Given the description of an element on the screen output the (x, y) to click on. 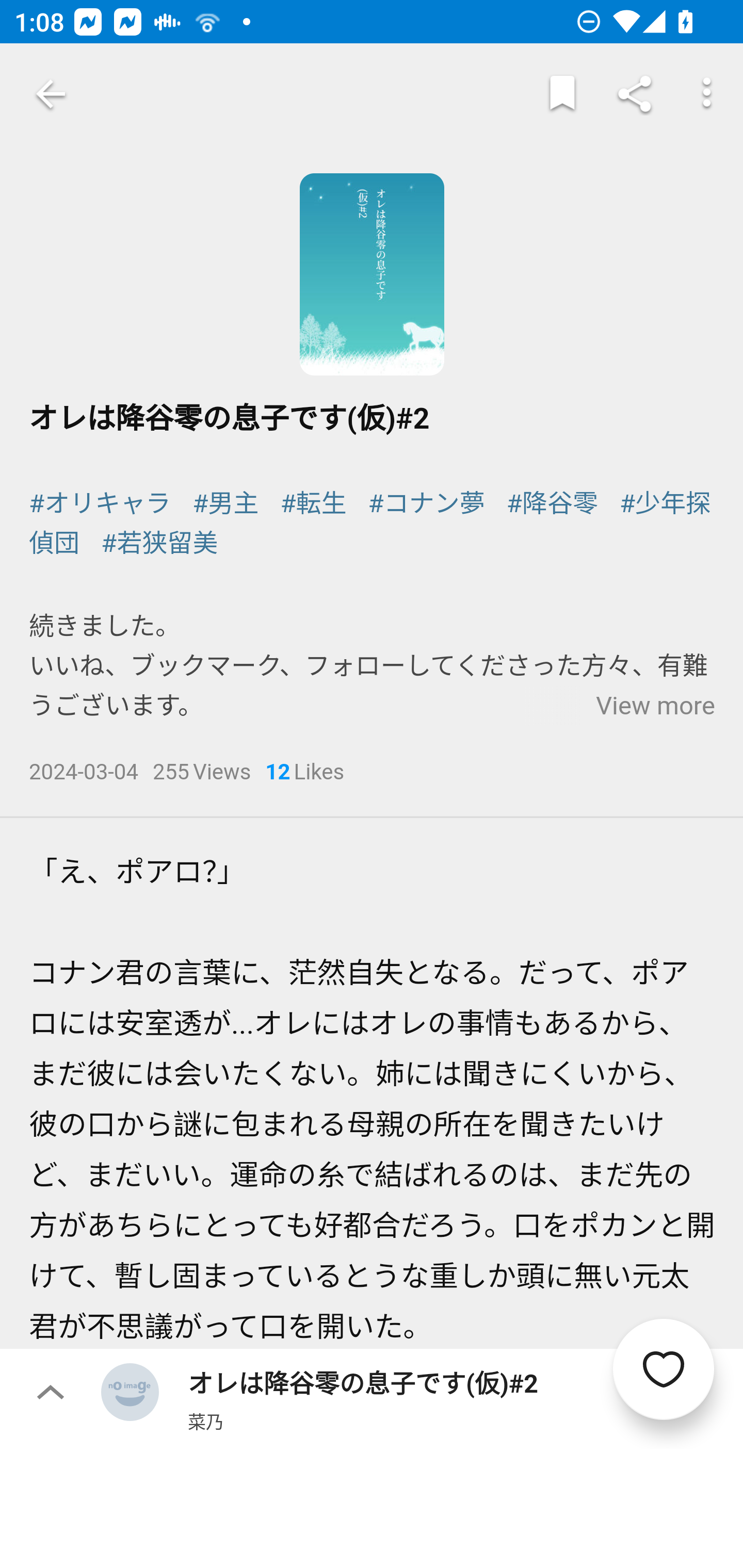
Navigate up (50, 93)
Markers (562, 93)
Share (634, 93)
More options (706, 93)
#オリキャラ (99, 503)
#少年探偵団 (370, 523)
#男主 (225, 503)
#転生 (313, 503)
#コナン夢 (425, 503)
#降谷零 (552, 503)
#若狭留美 (159, 542)
View more (654, 706)
12Likes (303, 773)
菜乃 (205, 1421)
